Given the description of an element on the screen output the (x, y) to click on. 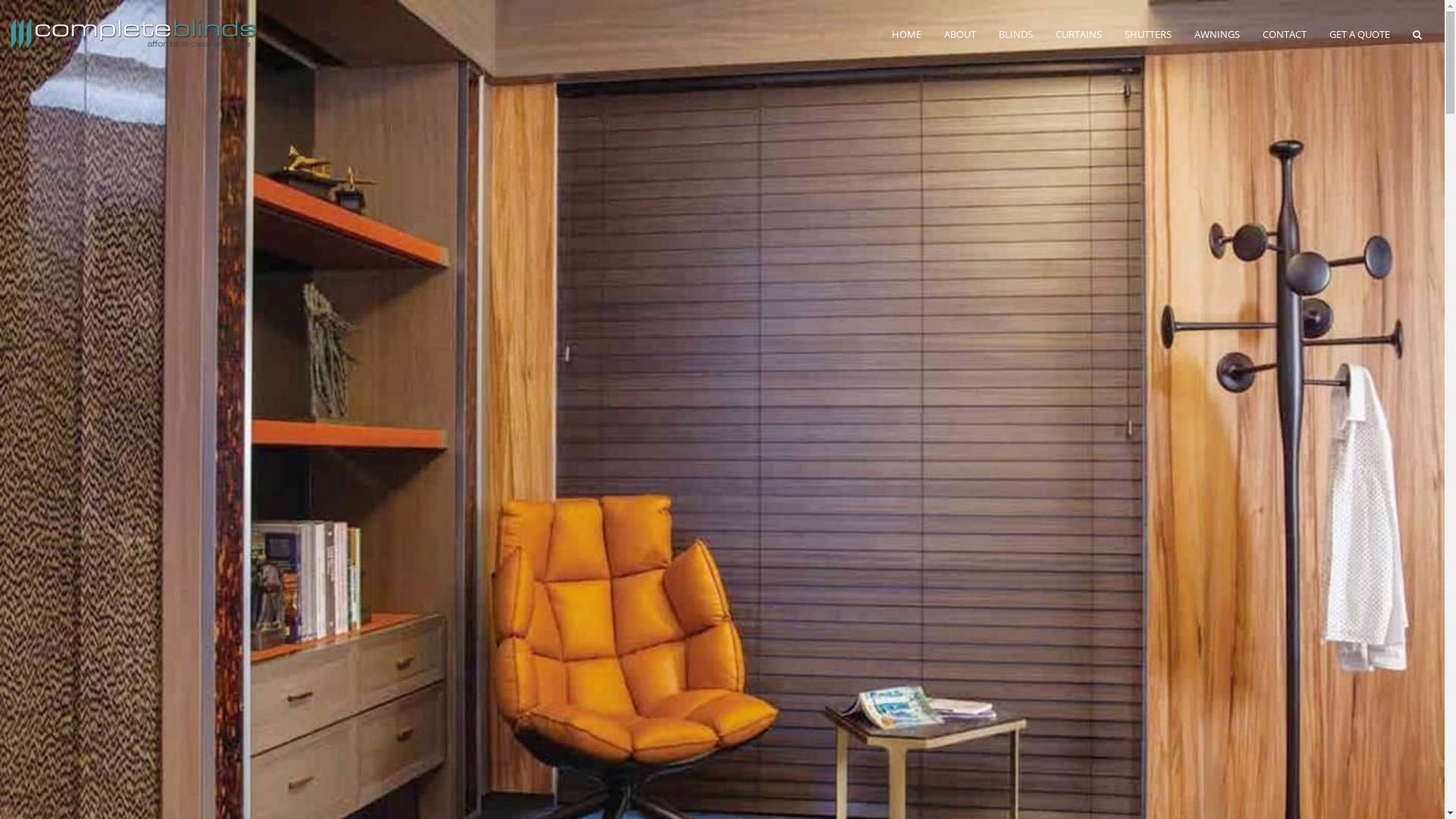
AWNINGS Element type: text (1217, 34)
GET A QUOTE Element type: text (1359, 34)
SHUTTERS Element type: text (1148, 34)
HOME Element type: text (906, 34)
BLINDS Element type: text (1015, 34)
CURTAINS Element type: text (1078, 34)
CONTACT Element type: text (1284, 34)
ABOUT Element type: text (959, 34)
